Given the description of an element on the screen output the (x, y) to click on. 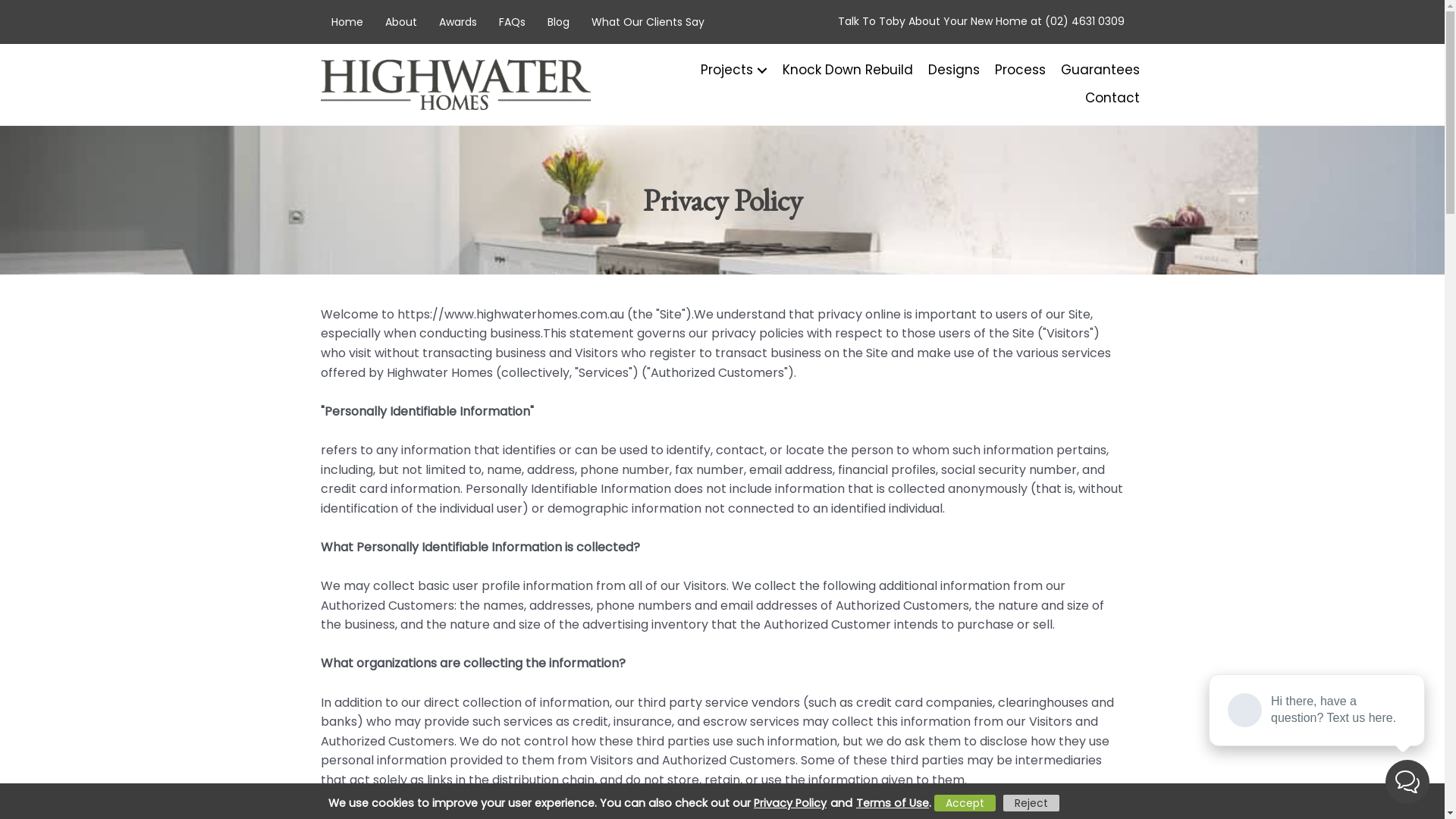
Process Element type: text (1011, 70)
FAQs Element type: text (512, 21)
Terms of Use Element type: text (890, 803)
Knock Down Rebuild Element type: text (839, 70)
Reject Element type: text (1031, 802)
Contact Element type: text (1104, 98)
Home Element type: text (346, 21)
logo-400 Element type: hover (454, 84)
Accept Element type: text (964, 802)
What Our Clients Say Element type: text (647, 21)
(02) 4631 0309 Element type: text (1084, 20)
Designs Element type: text (946, 70)
Awards Element type: text (456, 21)
About Element type: text (400, 21)
Blog Element type: text (558, 21)
Projects Element type: text (723, 70)
Privacy Policy Element type: text (791, 803)
Guarantees Element type: text (1092, 70)
